Given the description of an element on the screen output the (x, y) to click on. 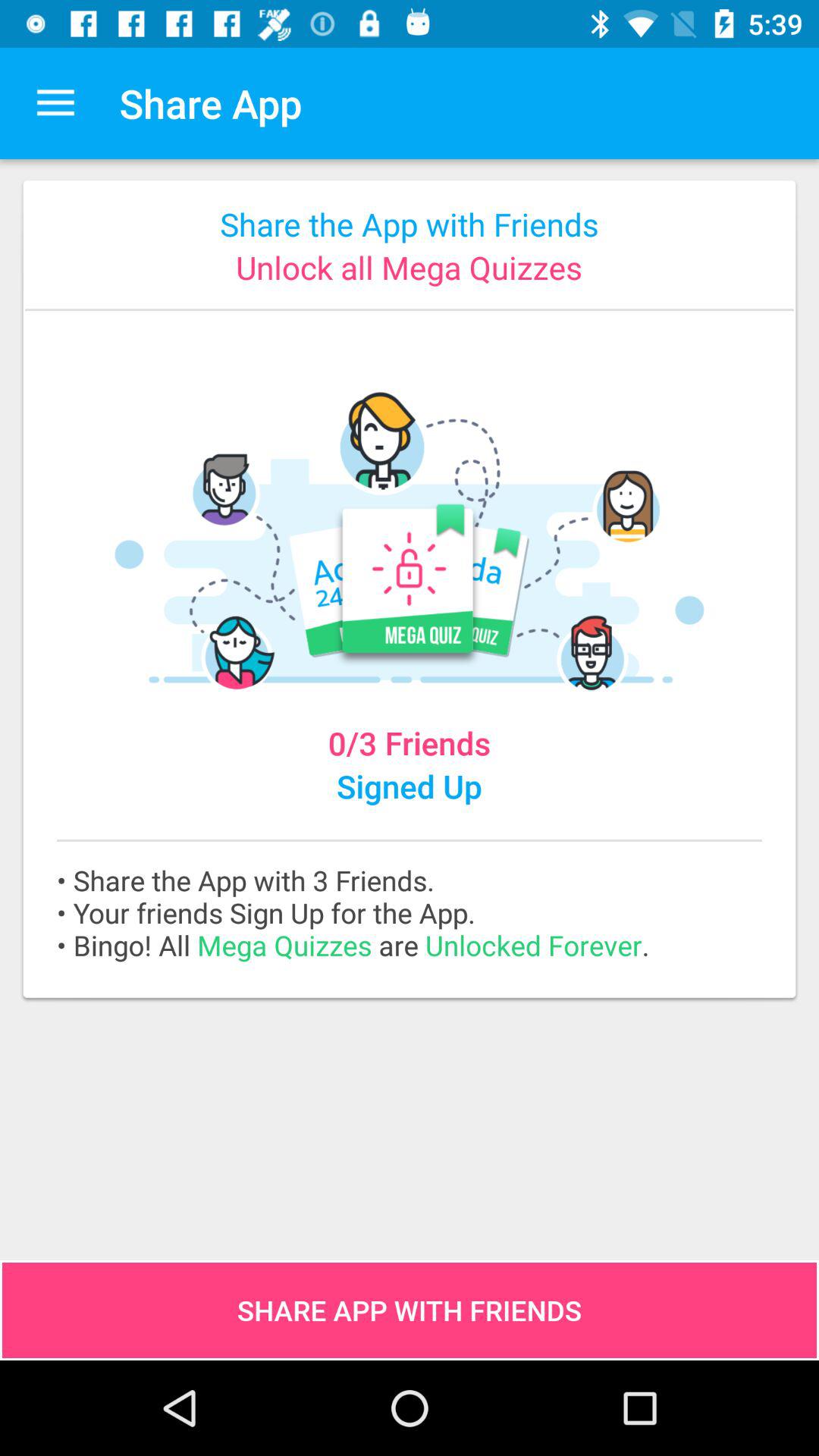
open app to the left of the share app app (55, 103)
